Given the description of an element on the screen output the (x, y) to click on. 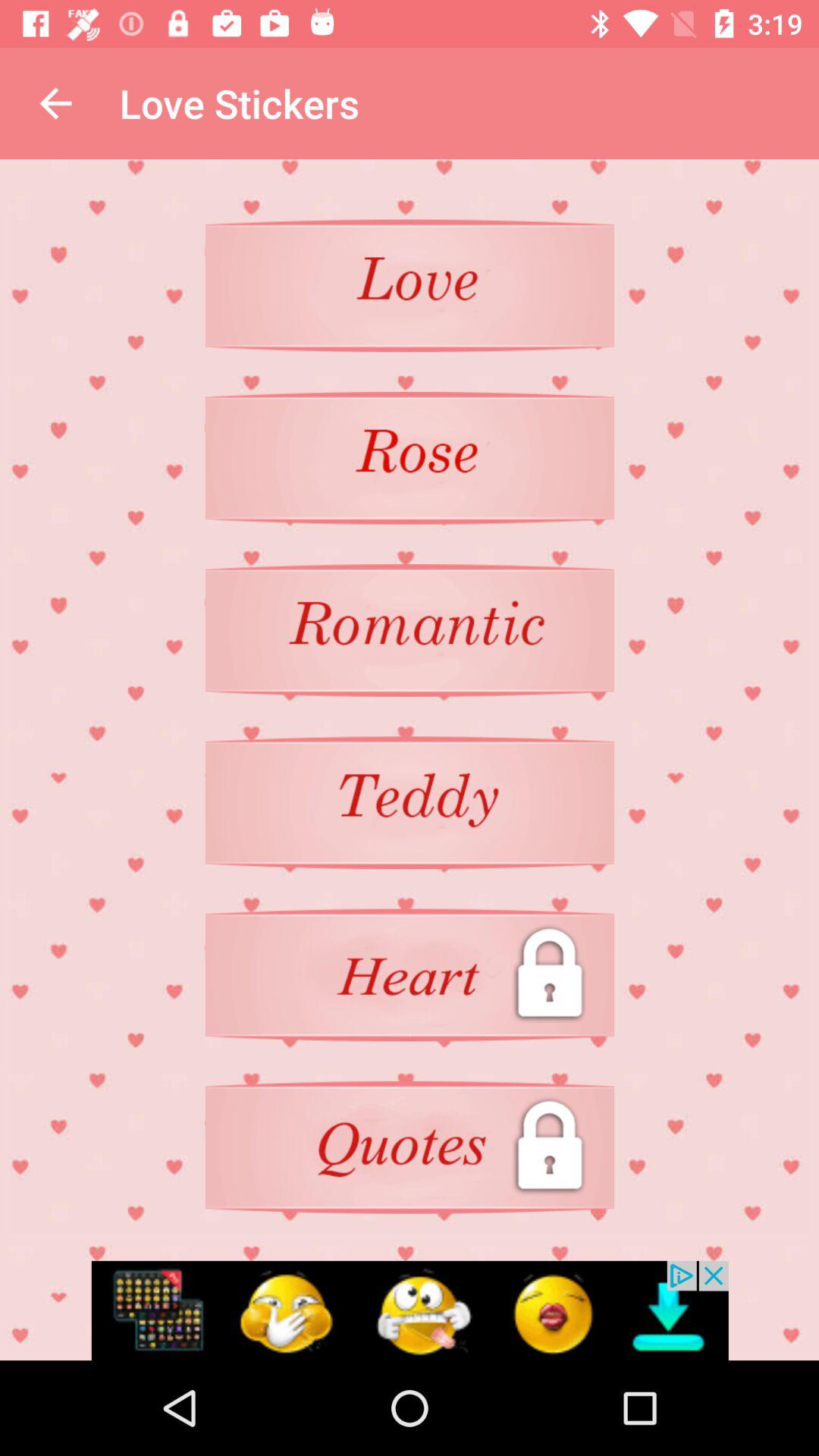
click the rose option (409, 457)
